Given the description of an element on the screen output the (x, y) to click on. 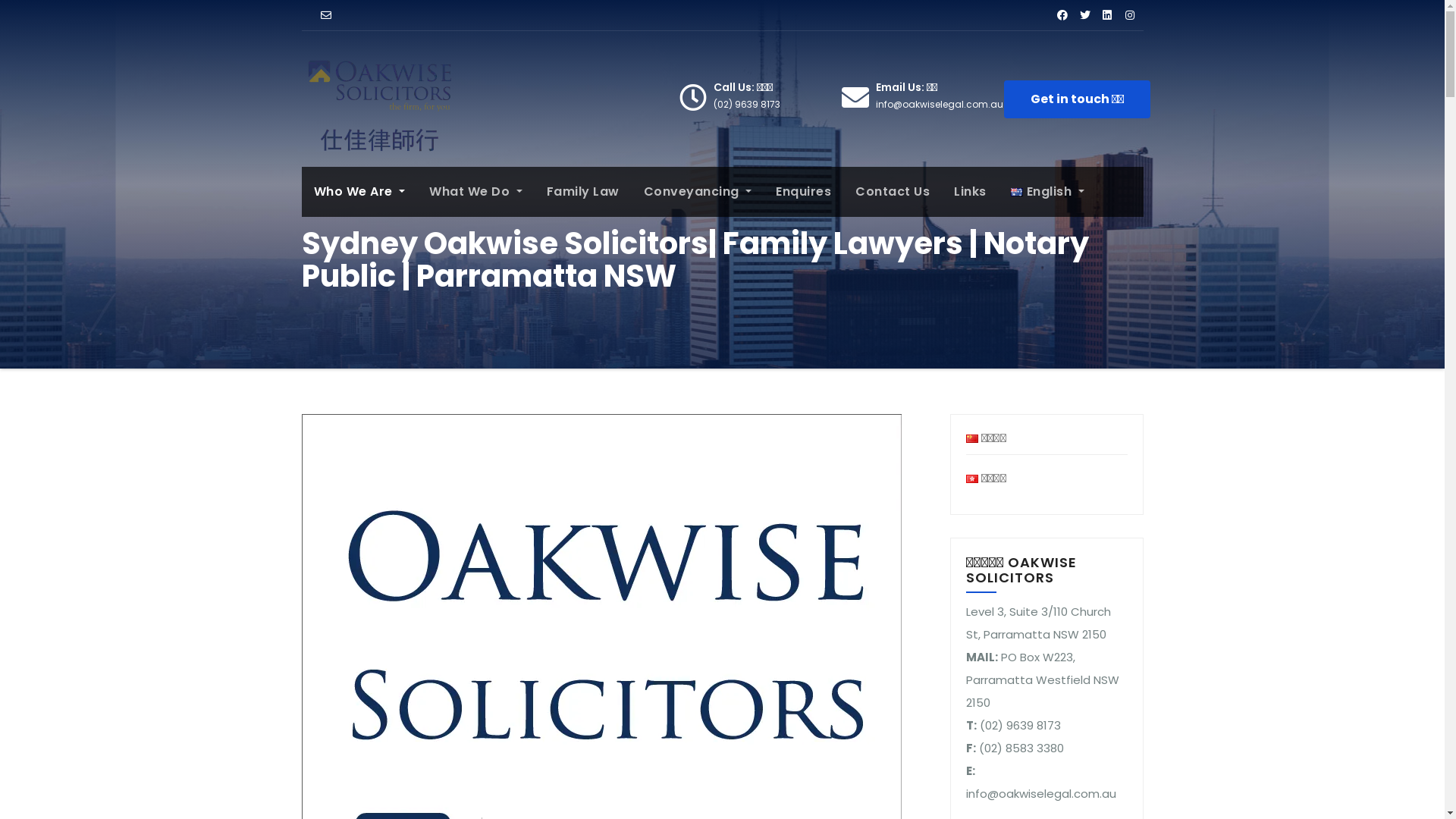
Who We Are Element type: text (359, 191)
Enquires Element type: text (803, 191)
What We Do Element type: text (475, 191)
Conveyancing Element type: text (697, 191)
Links Element type: text (969, 191)
English Element type: text (1047, 191)
Family Law Element type: text (582, 191)
Contact Us Element type: text (892, 191)
